Given the description of an element on the screen output the (x, y) to click on. 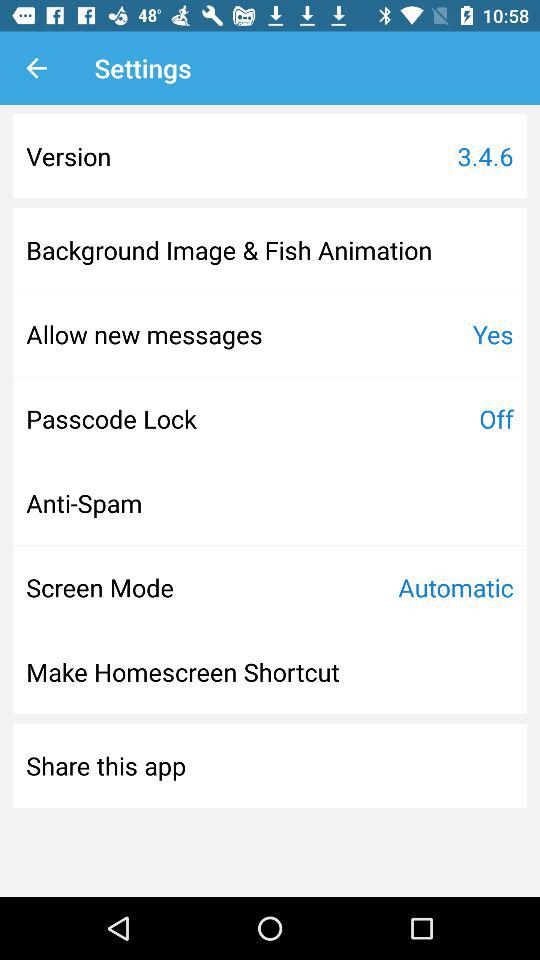
turn off icon to the left of the off icon (111, 418)
